Given the description of an element on the screen output the (x, y) to click on. 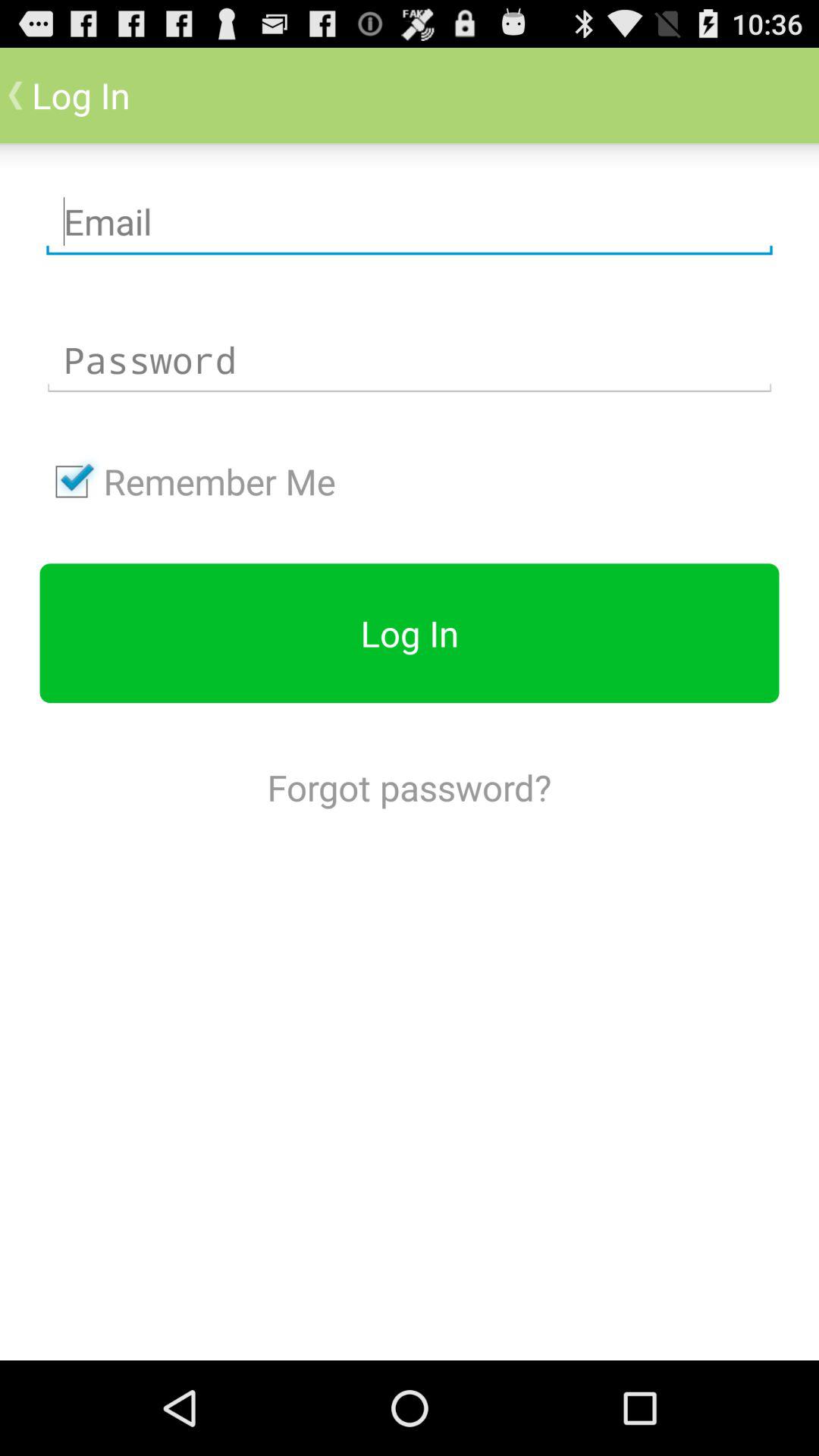
enter password (409, 360)
